Given the description of an element on the screen output the (x, y) to click on. 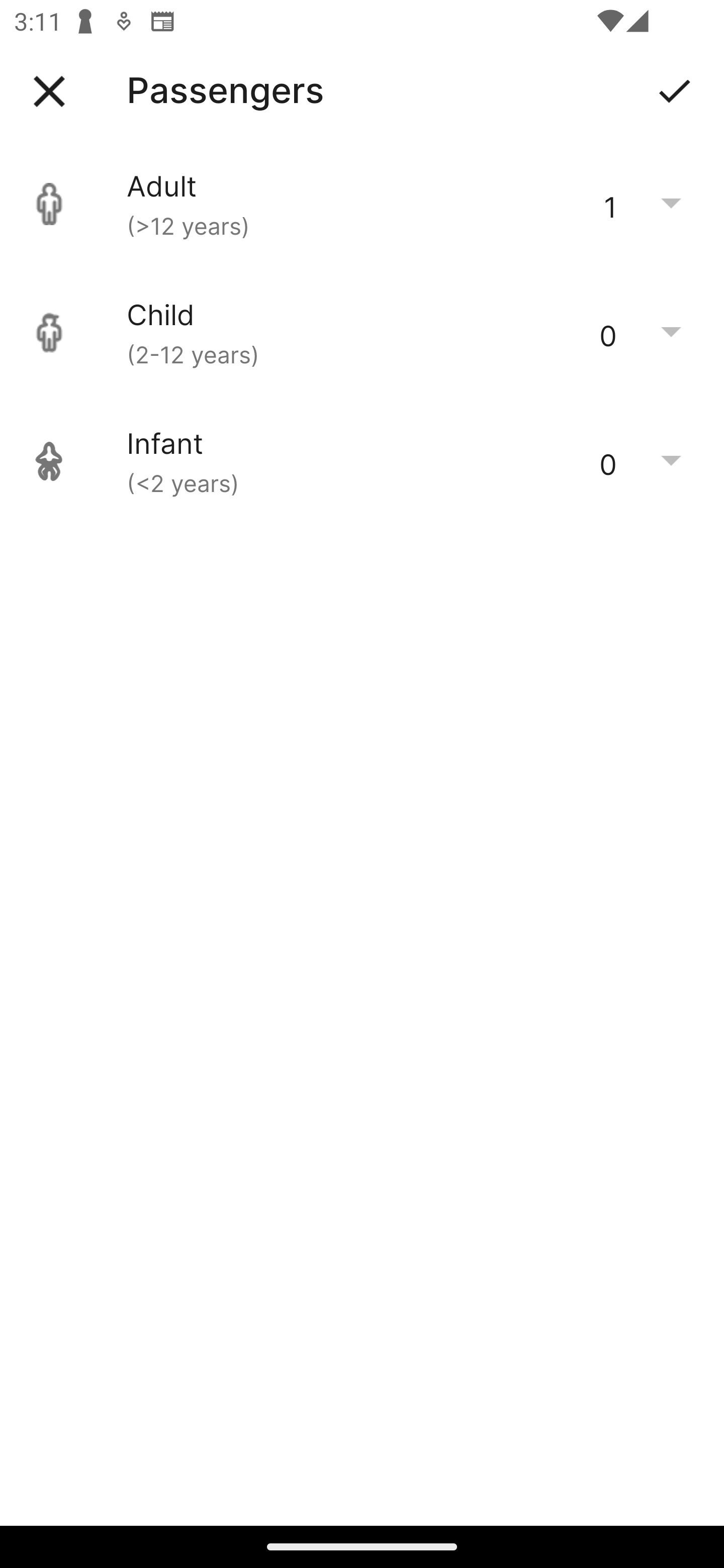
Adult (>12 years) 1 (362, 204)
Child (2-12 years) 0 (362, 332)
Infant (<2 years) 0 (362, 461)
